Given the description of an element on the screen output the (x, y) to click on. 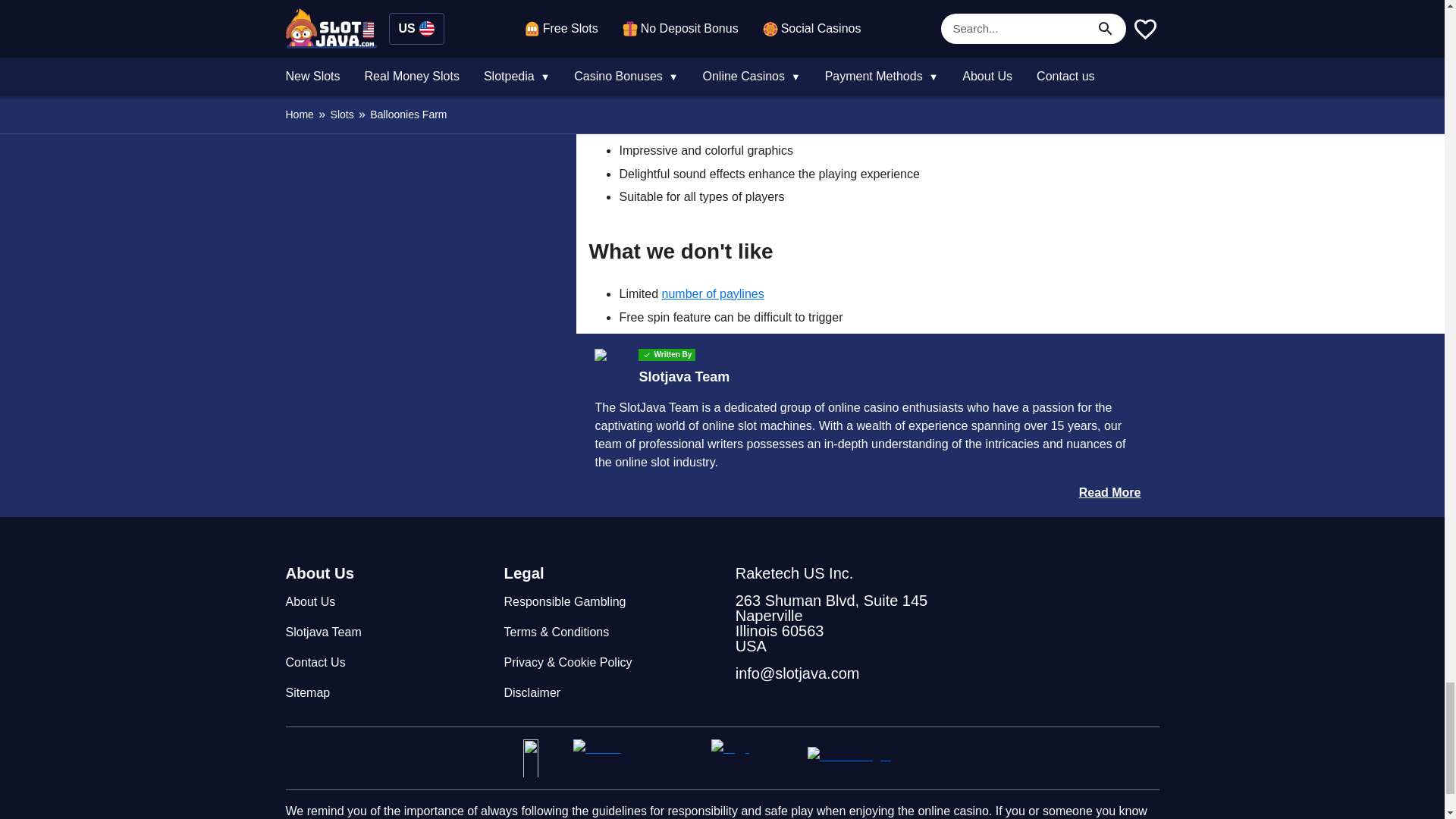
Slotjava partner (752, 758)
Slotjava partner (635, 758)
Slotjava partner (541, 758)
Slotjava partner (864, 758)
